Given the description of an element on the screen output the (x, y) to click on. 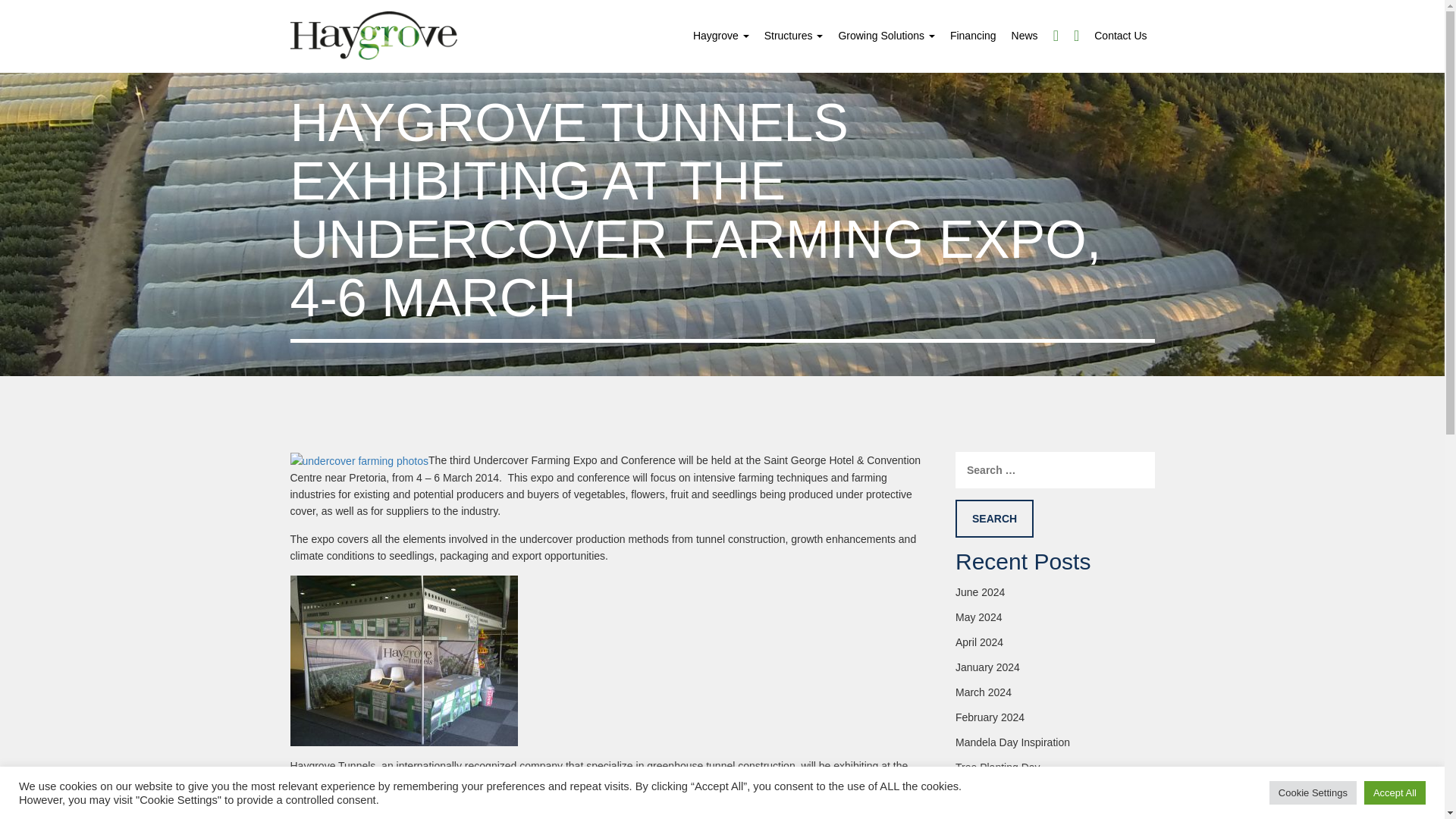
Structures (794, 35)
Structures (794, 35)
Contact Us (1120, 35)
Search (994, 518)
Haygrove (721, 35)
Search (994, 518)
Haygrove (721, 35)
Growing Solutions (885, 35)
